Given the description of an element on the screen output the (x, y) to click on. 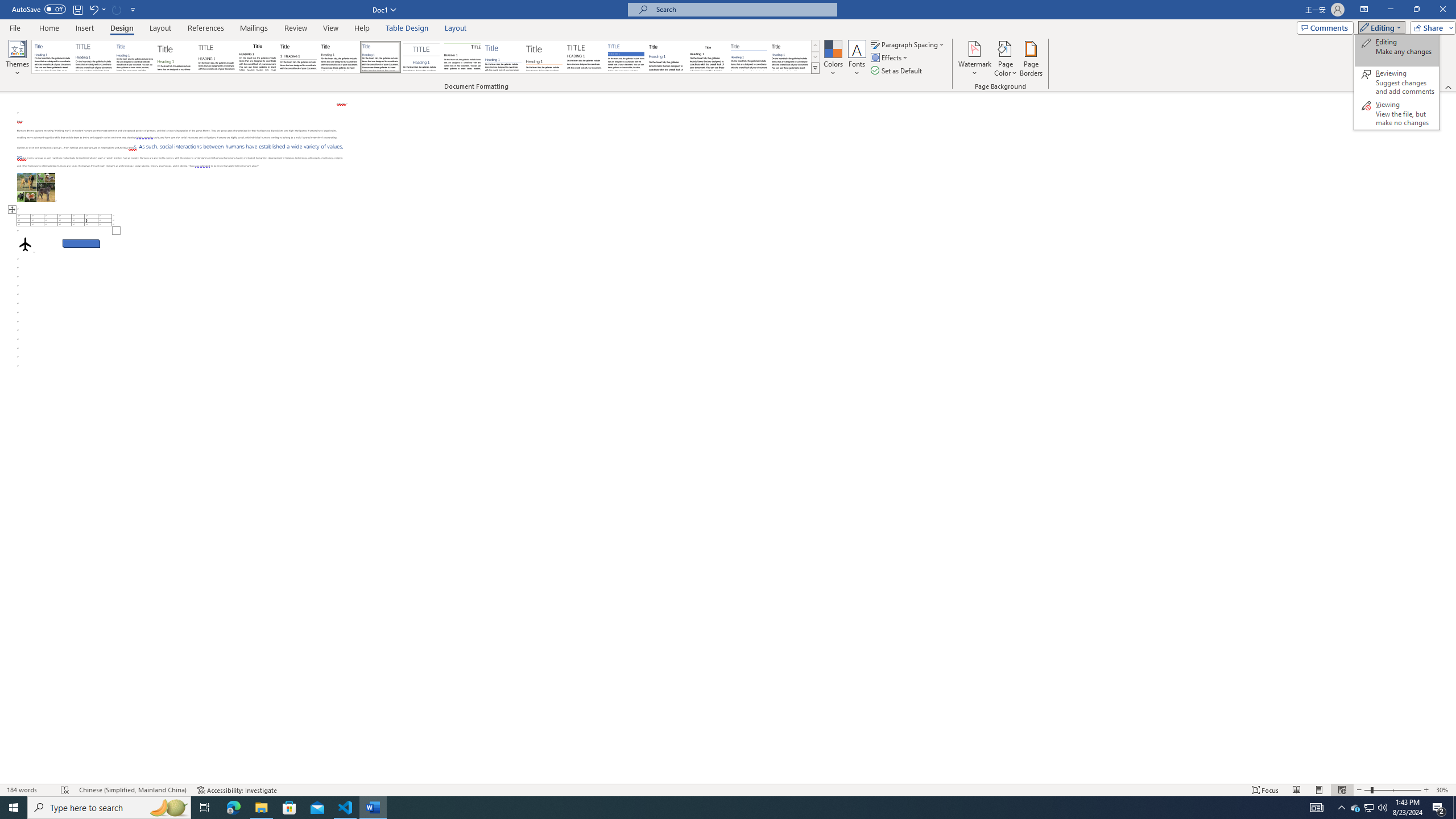
Minimalist (584, 56)
Running applications (717, 807)
Basic (Elegant) (93, 56)
&Editing (1396, 82)
Black & White (Classic) (257, 56)
